Given the description of an element on the screen output the (x, y) to click on. 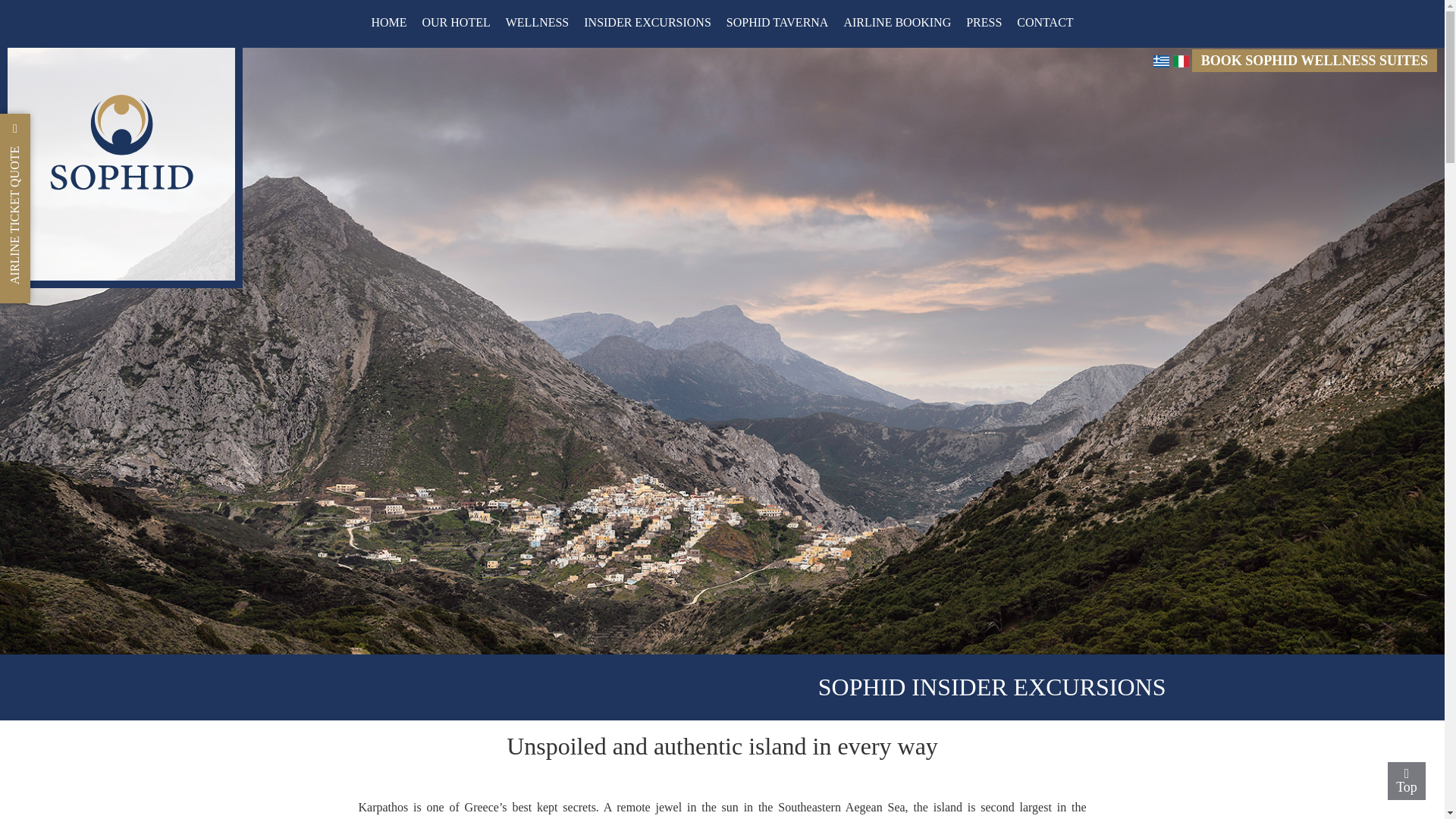
HOME (388, 24)
SOPHID TAVERNA (777, 24)
BOOK SOPHID WELLNESS SUITES (1314, 60)
WELLNESS (537, 24)
OUR HOTEL (455, 24)
PRESS (983, 24)
INSIDER EXCURSIONS (647, 24)
CONTACT (1044, 24)
AIRLINE BOOKING (896, 24)
